Given the description of an element on the screen output the (x, y) to click on. 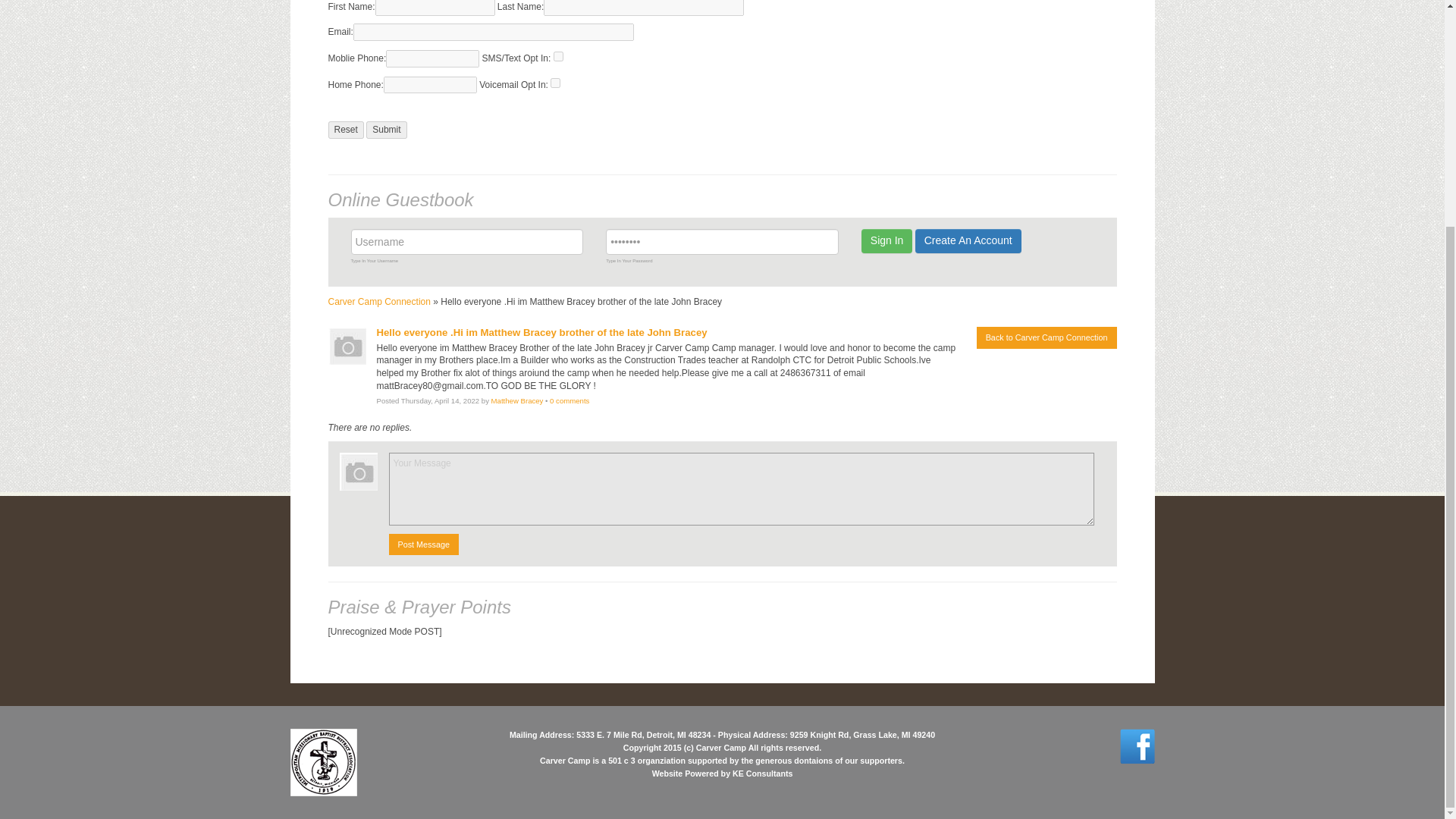
Post Message (423, 544)
0 comments (569, 400)
Password (721, 241)
Back to Carver Camp Connection (1046, 337)
Create An Account (968, 241)
Username (466, 241)
Sign In (886, 241)
Post Message (423, 544)
Reset (344, 129)
Matthew Bracey (517, 400)
KE Consultants (762, 773)
Sign In (886, 241)
Yes (558, 56)
Submit (386, 129)
